Given the description of an element on the screen output the (x, y) to click on. 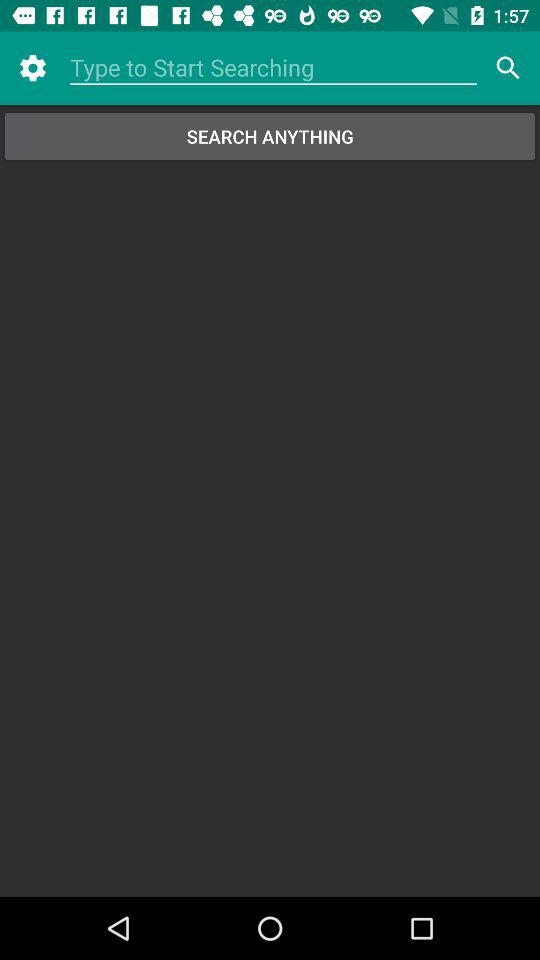
search bar (273, 67)
